Given the description of an element on the screen output the (x, y) to click on. 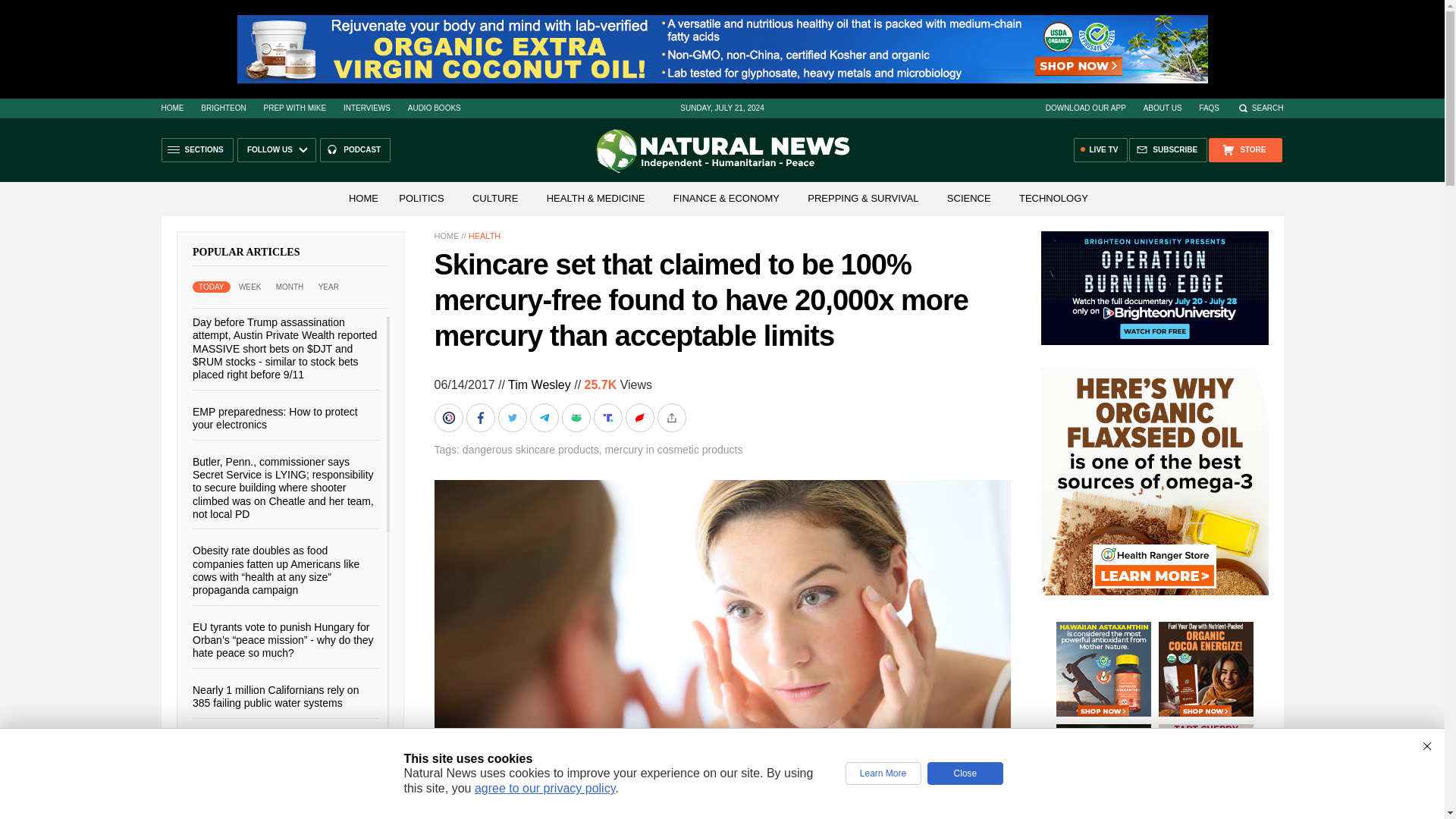
BRIGHTEON (223, 108)
EMP preparedness: How to protect your electronics (275, 416)
FAQS (1209, 108)
Share on Gettr (640, 417)
SUBSCRIBE (1168, 150)
Search (1260, 108)
Share on Facebook (481, 417)
Share on Telegram (544, 417)
SEARCH (1260, 108)
STORE (1244, 150)
AUDIO BOOKS (434, 108)
HOME (171, 108)
